Given the description of an element on the screen output the (x, y) to click on. 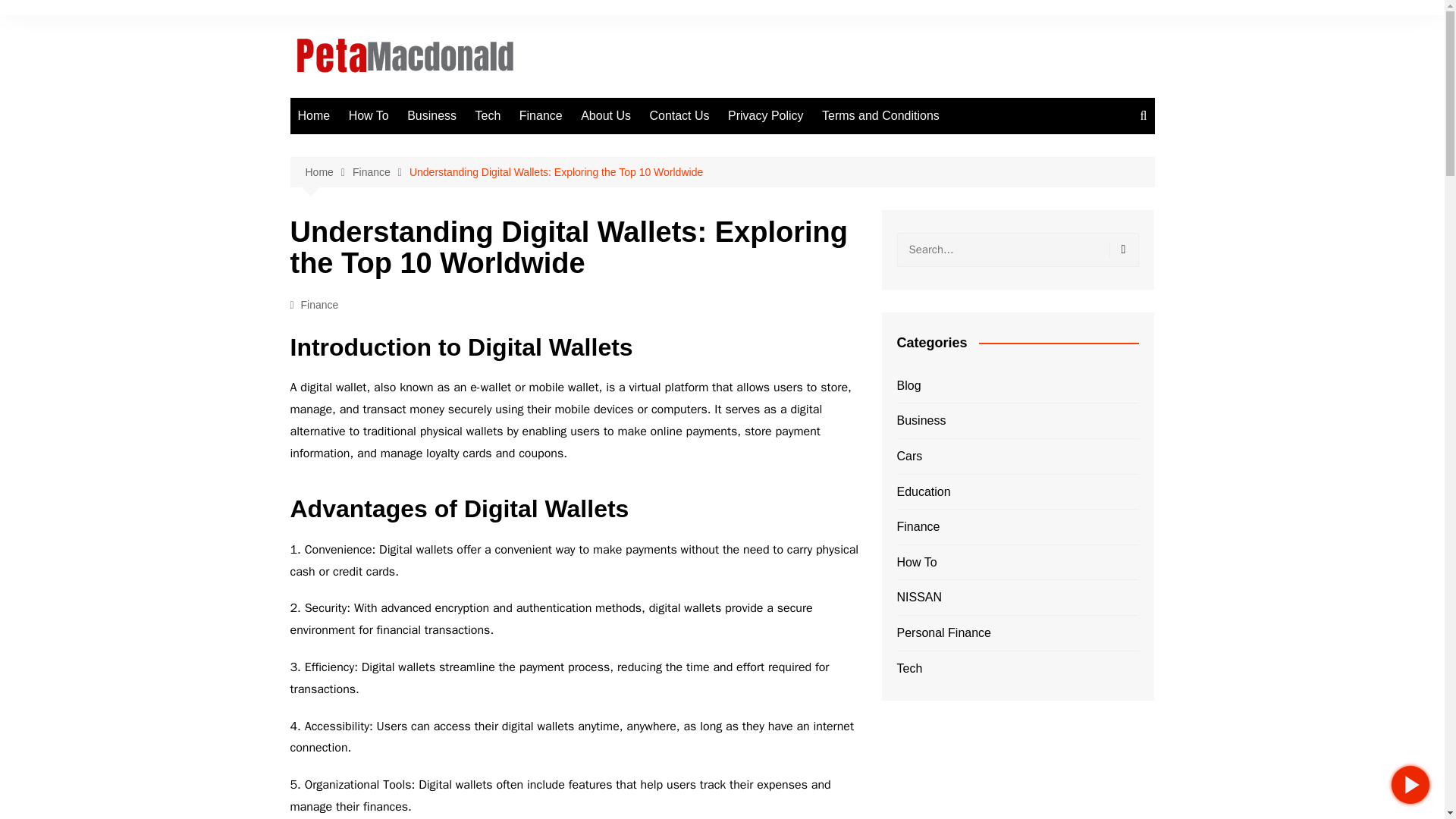
About Us (606, 115)
Finance (380, 171)
How To (368, 115)
Privacy Policy (765, 115)
Finance (320, 304)
Tech (487, 115)
Home (328, 171)
Home (313, 115)
Business (431, 115)
Finance (541, 115)
Terms and Conditions (880, 115)
Contact Us (679, 115)
